Given the description of an element on the screen output the (x, y) to click on. 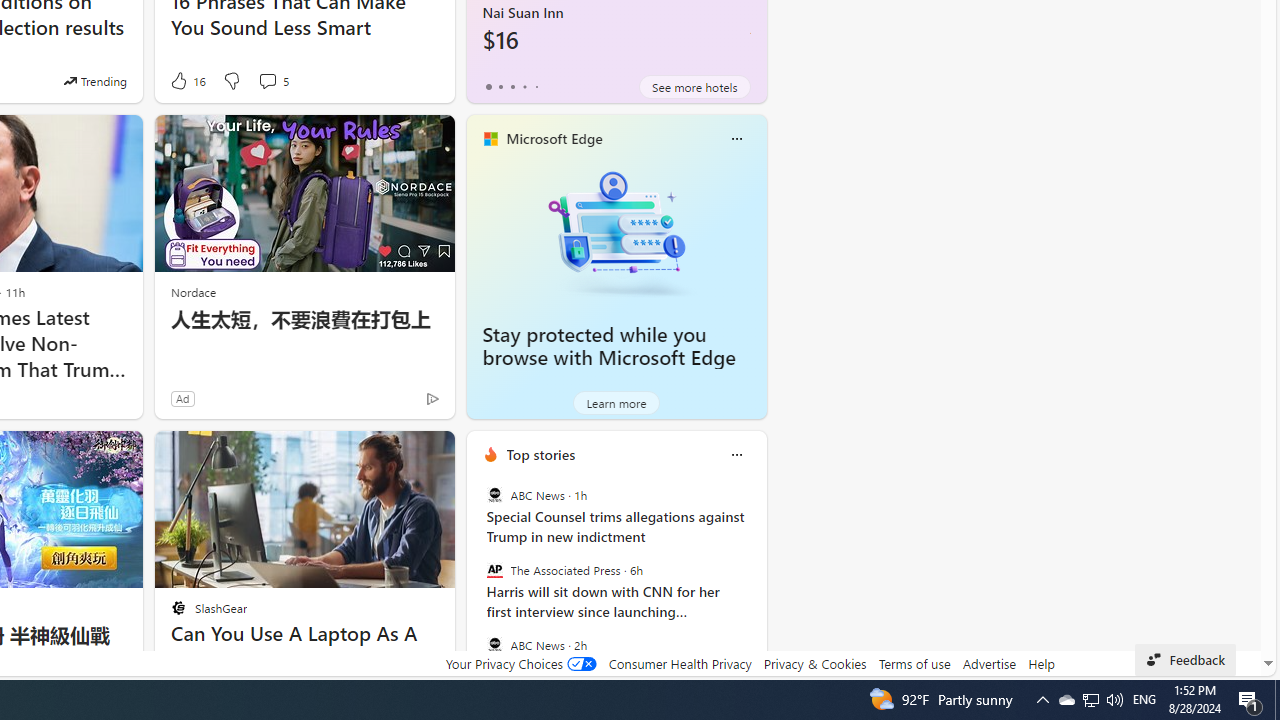
Terms of use (914, 663)
next (756, 583)
tab-2 (511, 86)
See more hotels (694, 86)
The Associated Press (494, 570)
View comments 5 Comment (272, 80)
Help (1040, 663)
View comments 5 Comment (267, 80)
